Given the description of an element on the screen output the (x, y) to click on. 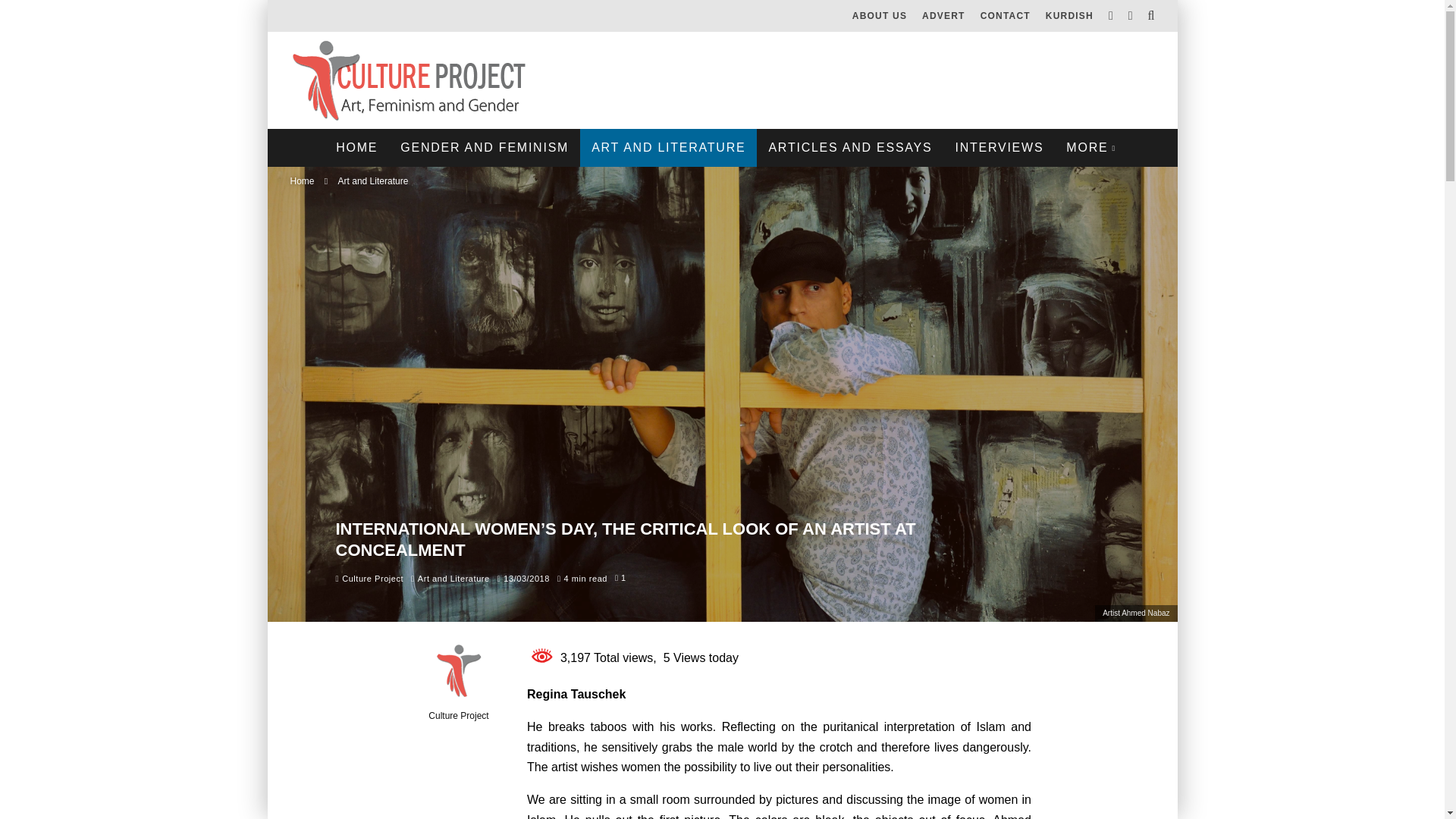
GENDER AND FEMINISM (483, 147)
HOME (356, 147)
KURDISH (1069, 15)
ABOUT US (879, 15)
CONTACT (1005, 15)
ADVERT (943, 15)
ART AND LITERATURE (668, 147)
